Given the description of an element on the screen output the (x, y) to click on. 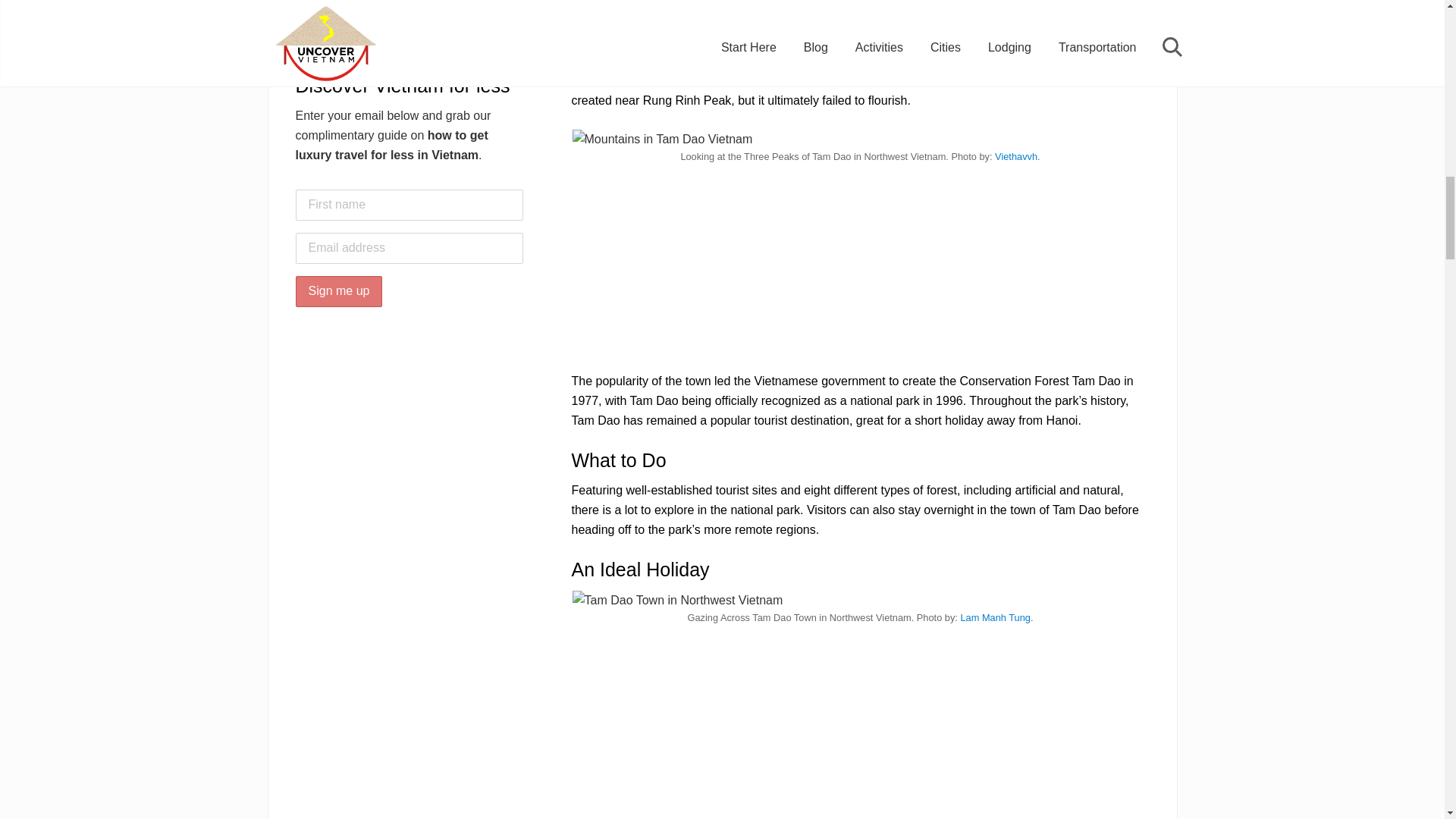
Sign me up (338, 291)
Lam Manh Tung (994, 617)
Viethavvh (1015, 156)
